Given the description of an element on the screen output the (x, y) to click on. 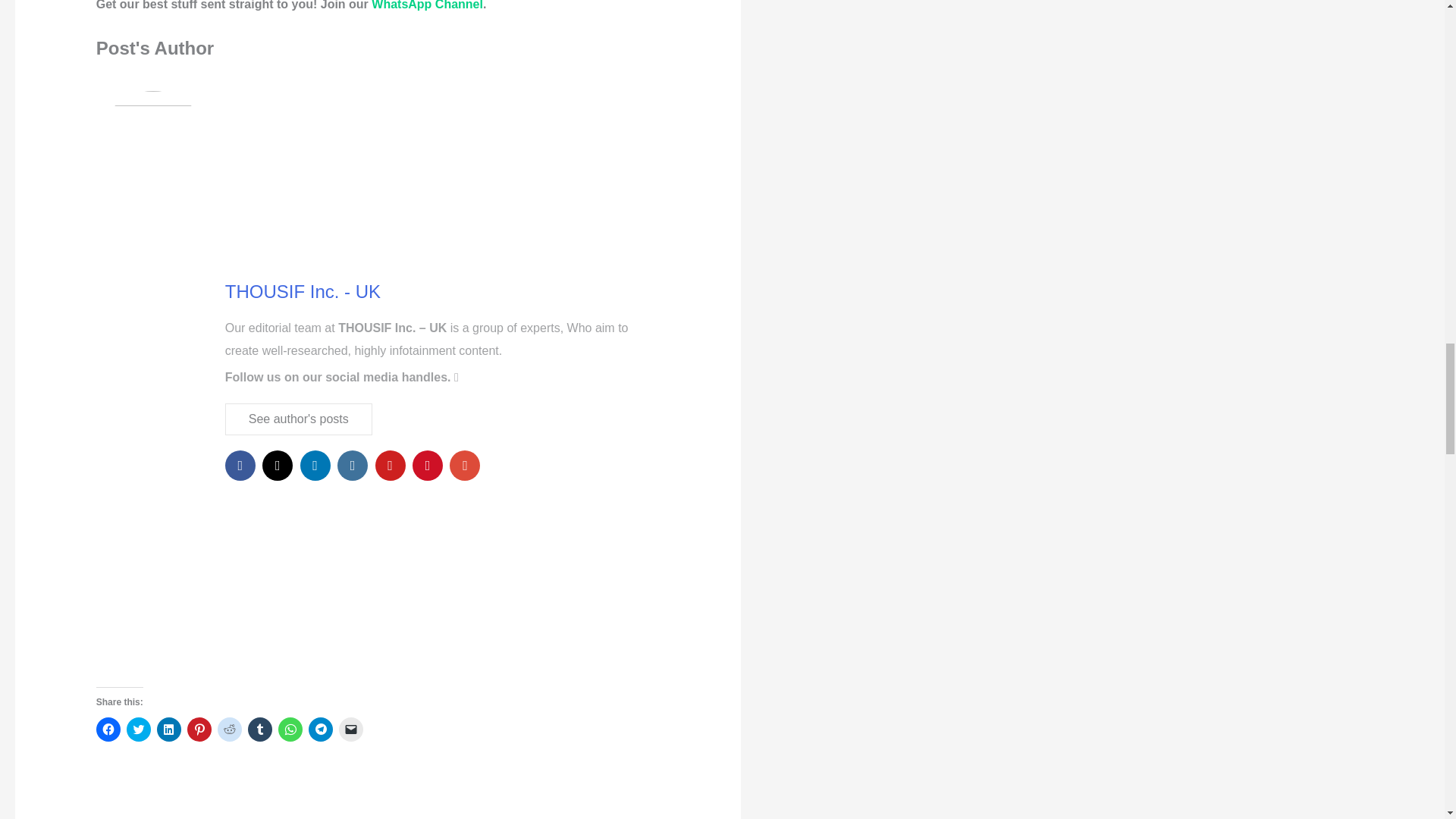
Click to email a link to a friend (350, 729)
Click to share on Facebook (108, 729)
Click to share on WhatsApp (290, 729)
Click to share on LinkedIn (168, 729)
Click to share on Twitter (138, 729)
Click to share on Tumblr (259, 729)
Click to share on Telegram (320, 729)
Click to share on Pinterest (199, 729)
Click to share on Reddit (228, 729)
